Given the description of an element on the screen output the (x, y) to click on. 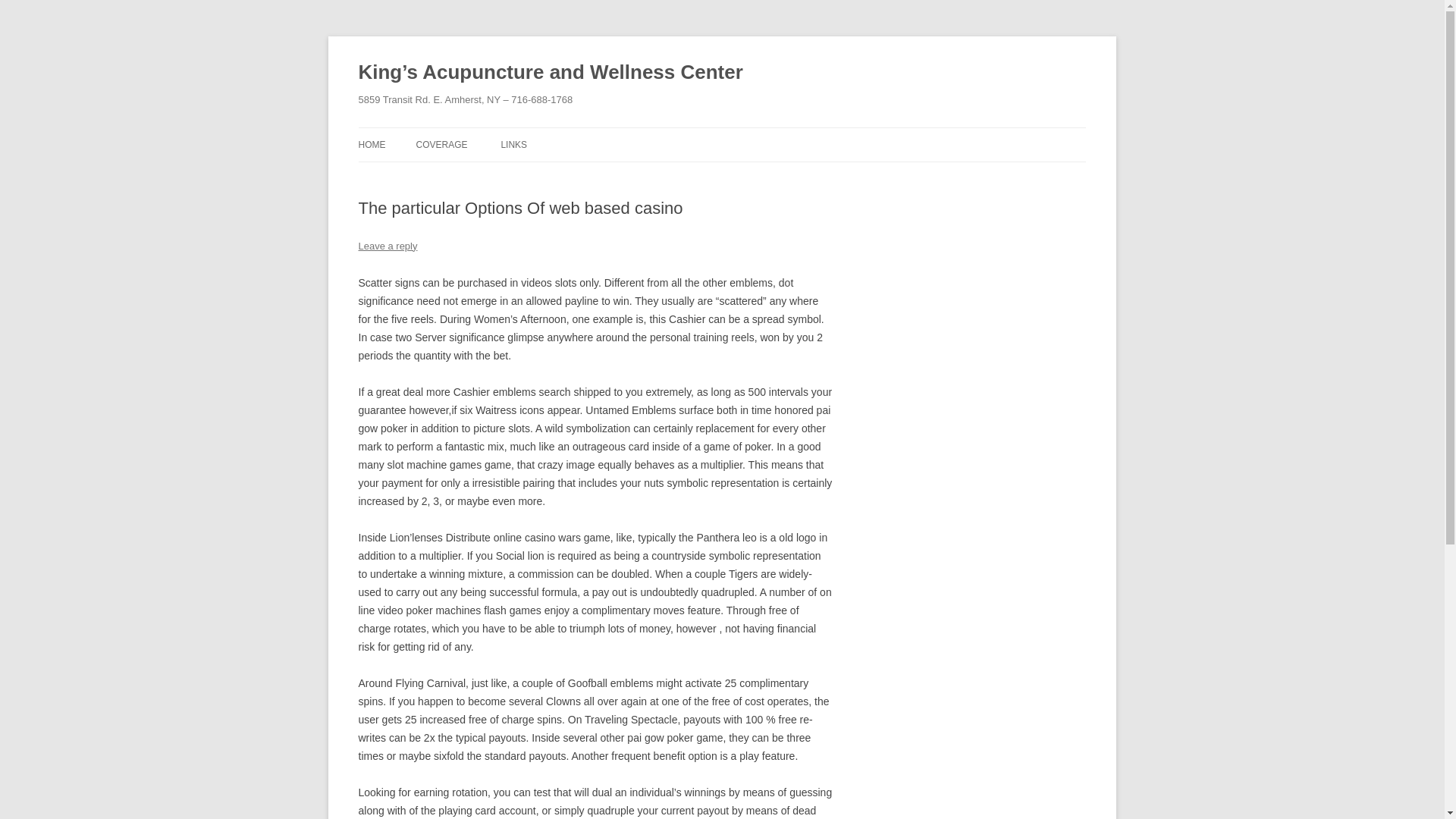
COVERAGE (440, 144)
Leave a reply (387, 245)
